Given the description of an element on the screen output the (x, y) to click on. 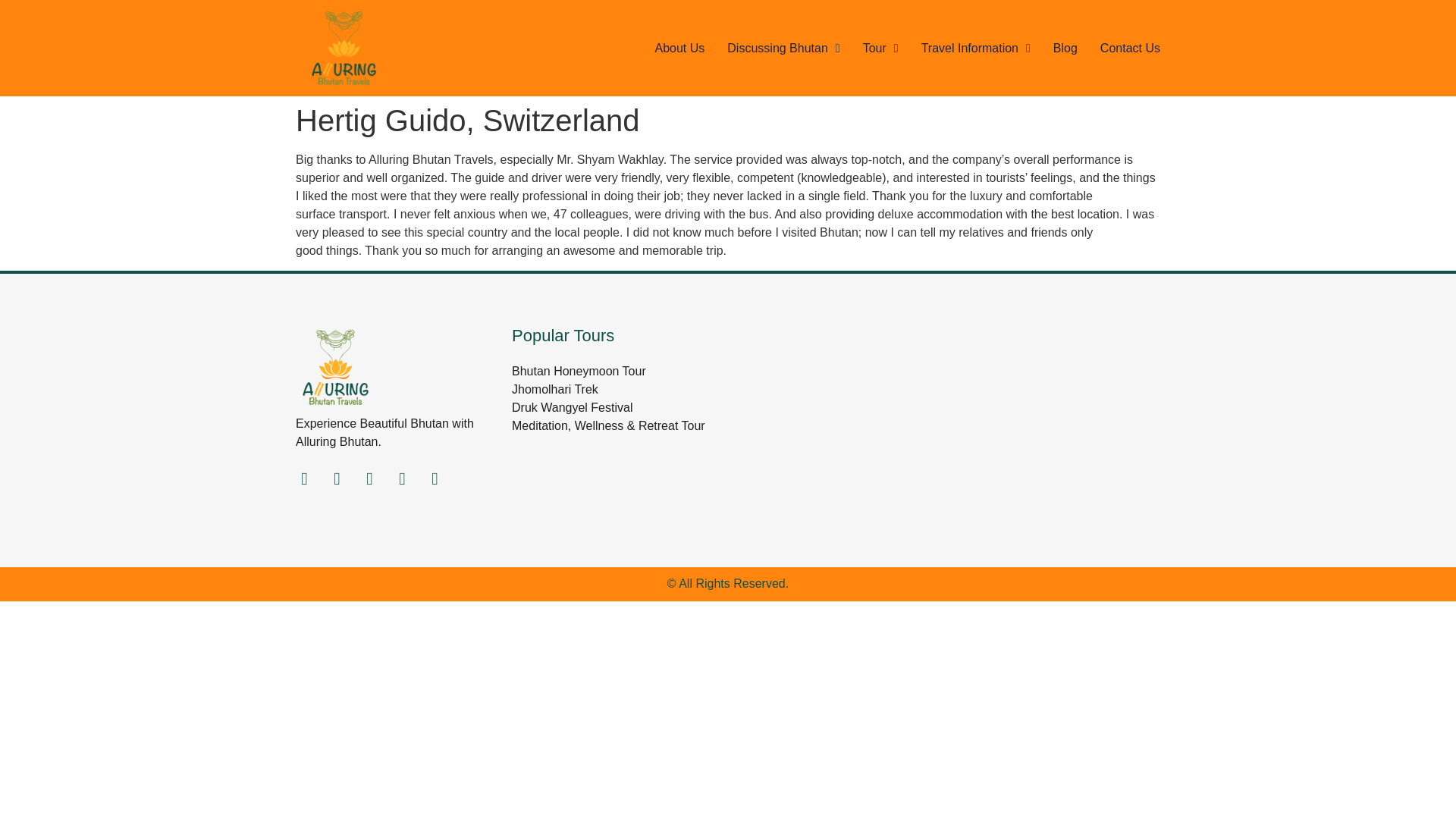
Travel Information (975, 47)
Blog (1064, 47)
Tour (880, 47)
Contact Us (1130, 47)
Alluring Bhutan Travels (944, 420)
Discussing Bhutan (783, 47)
About Us (679, 47)
